Given the description of an element on the screen output the (x, y) to click on. 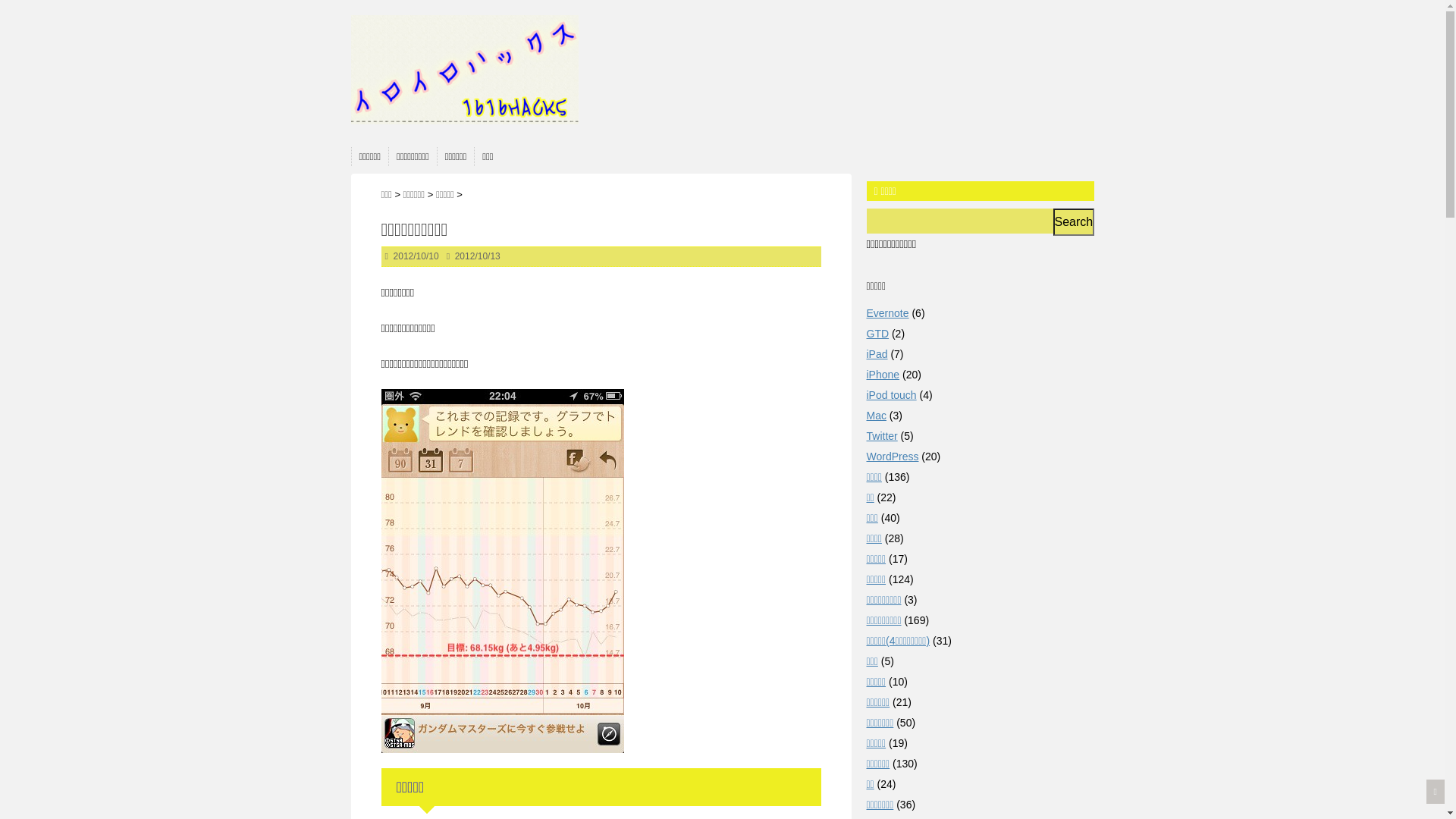
Twitter Element type: text (881, 435)
iPod touch Element type: text (891, 395)
iPhone Element type: text (882, 374)
photo Element type: hover (501, 742)
iPad Element type: text (876, 354)
GTD Element type: text (877, 333)
Mac Element type: text (875, 415)
WordPress Element type: text (892, 456)
Evernote Element type: text (887, 313)
